Given the description of an element on the screen output the (x, y) to click on. 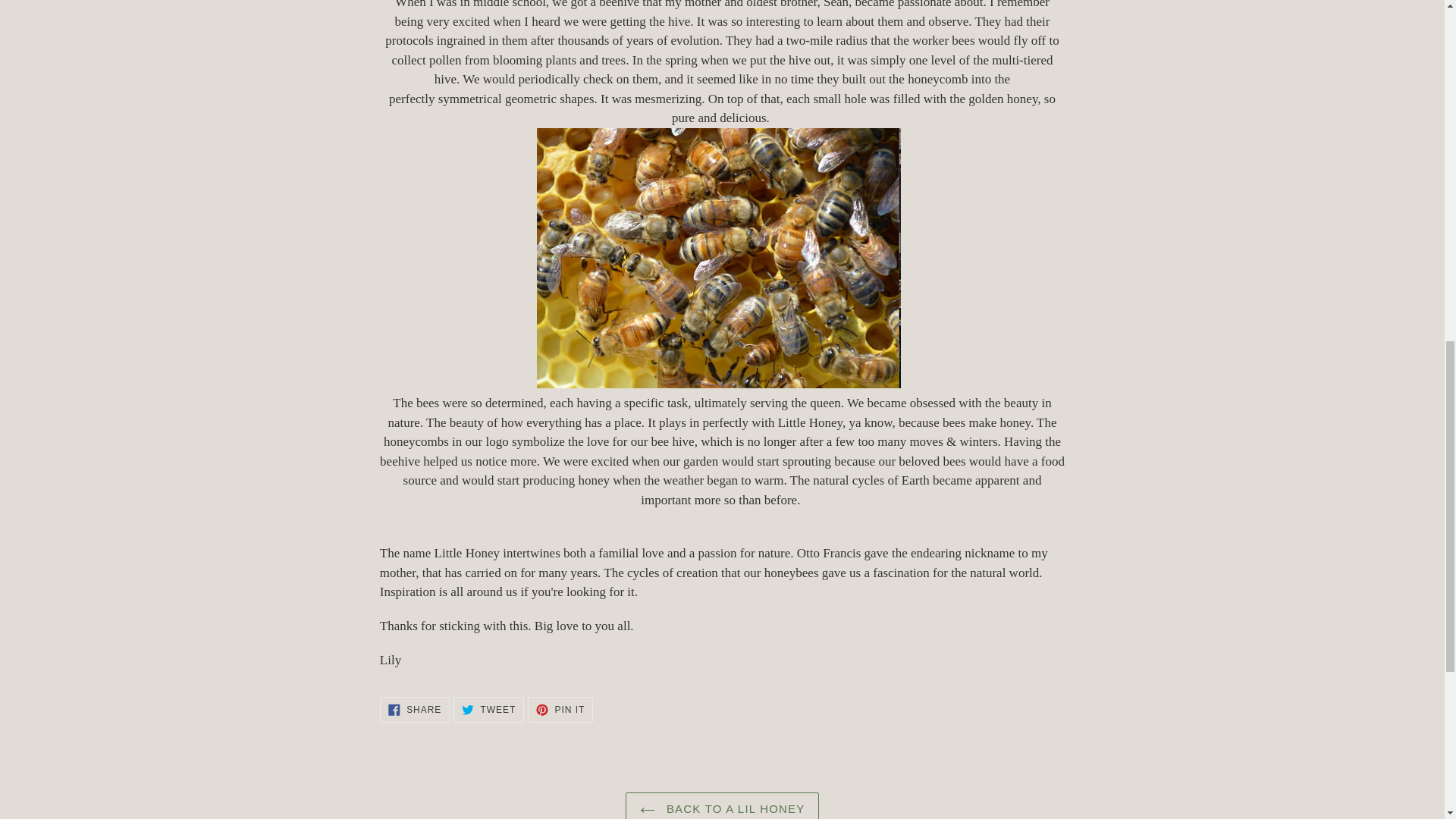
BACK TO A LIL HONEY (722, 805)
